Given the description of an element on the screen output the (x, y) to click on. 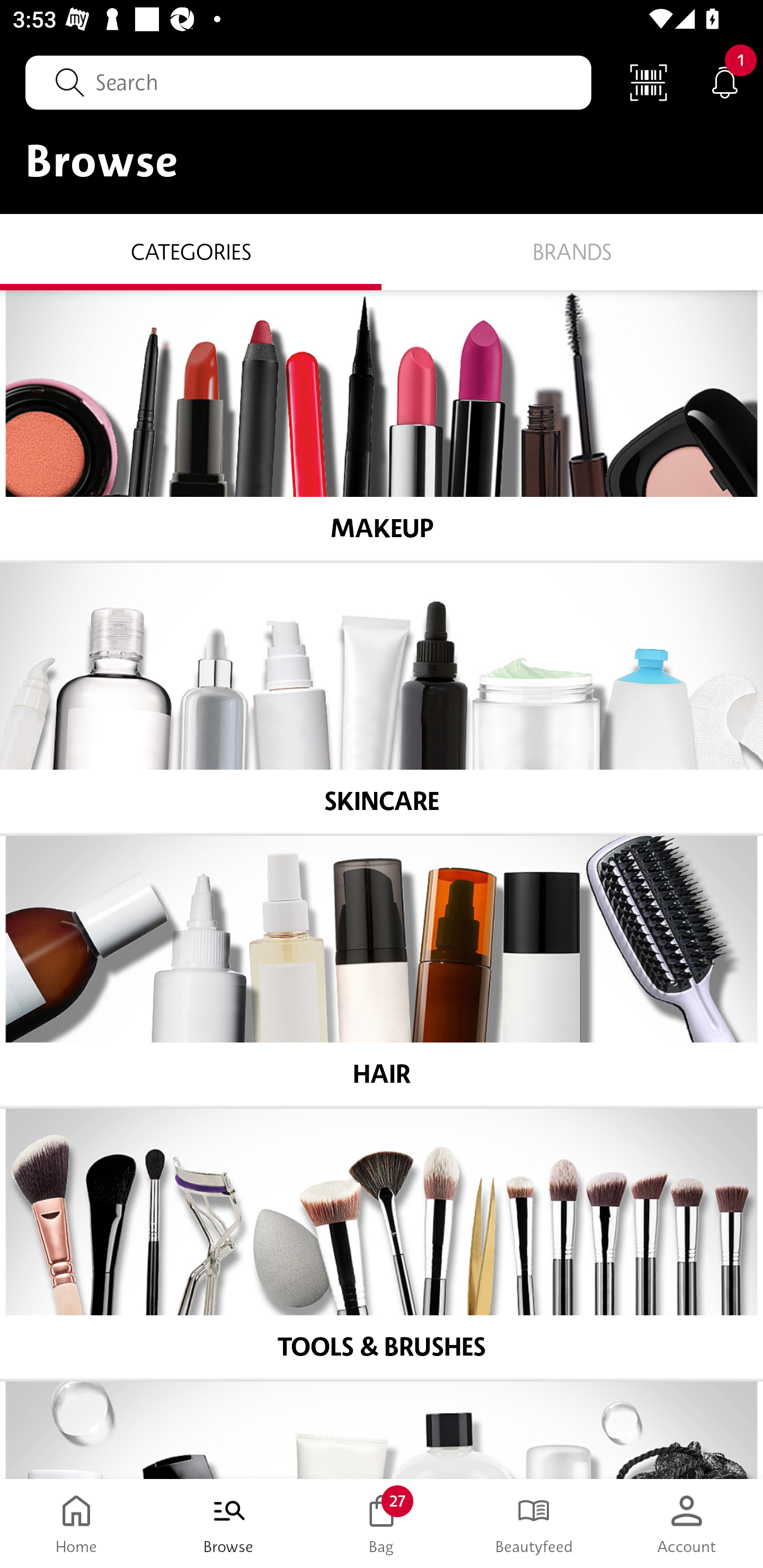
Scan Code (648, 81)
Notifications (724, 81)
Search (308, 81)
Brands BRANDS (572, 251)
MAKEUP (381, 425)
SKINCARE (381, 698)
HAIR (381, 971)
TOOLS & BRUSHES (381, 1243)
Home (76, 1523)
Bag 27 Bag (381, 1523)
Beautyfeed (533, 1523)
Account (686, 1523)
